Given the description of an element on the screen output the (x, y) to click on. 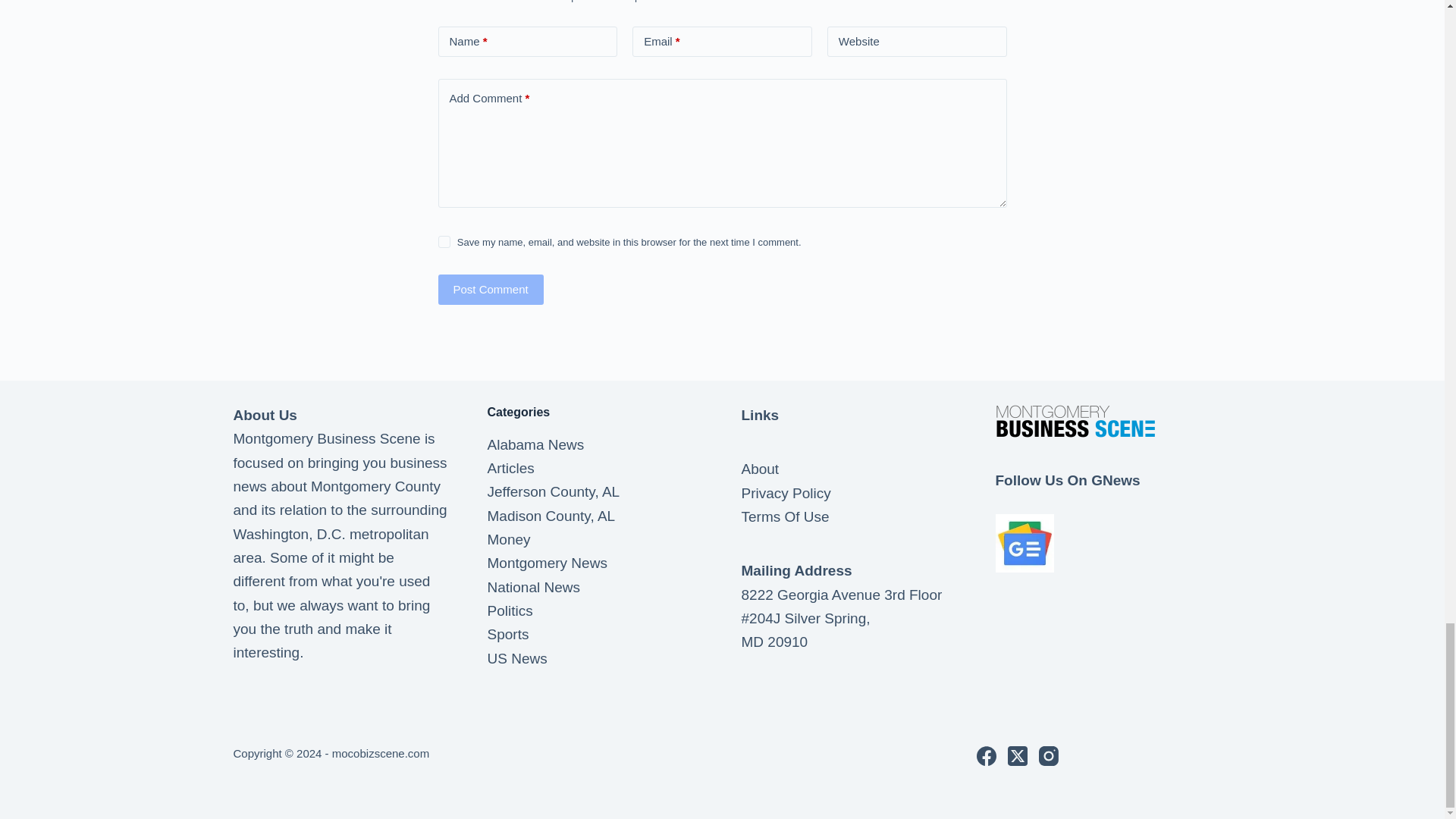
Alabama News (534, 444)
yes (443, 241)
Post Comment (490, 289)
Articles (510, 467)
Jefferson County, AL (553, 491)
